Given the description of an element on the screen output the (x, y) to click on. 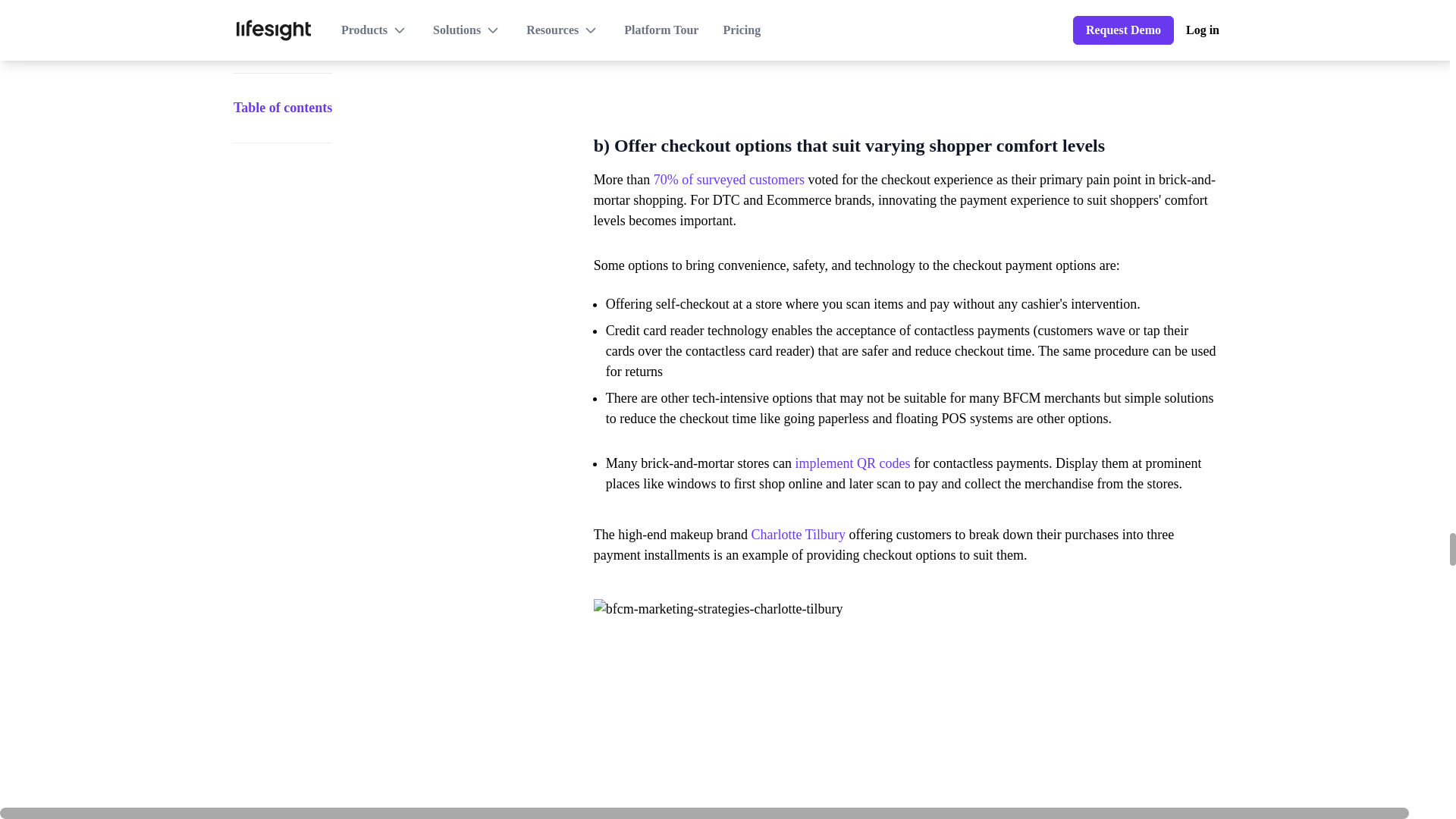
implement QR codes (852, 462)
Charlotte Tilbury (798, 534)
